Given the description of an element on the screen output the (x, y) to click on. 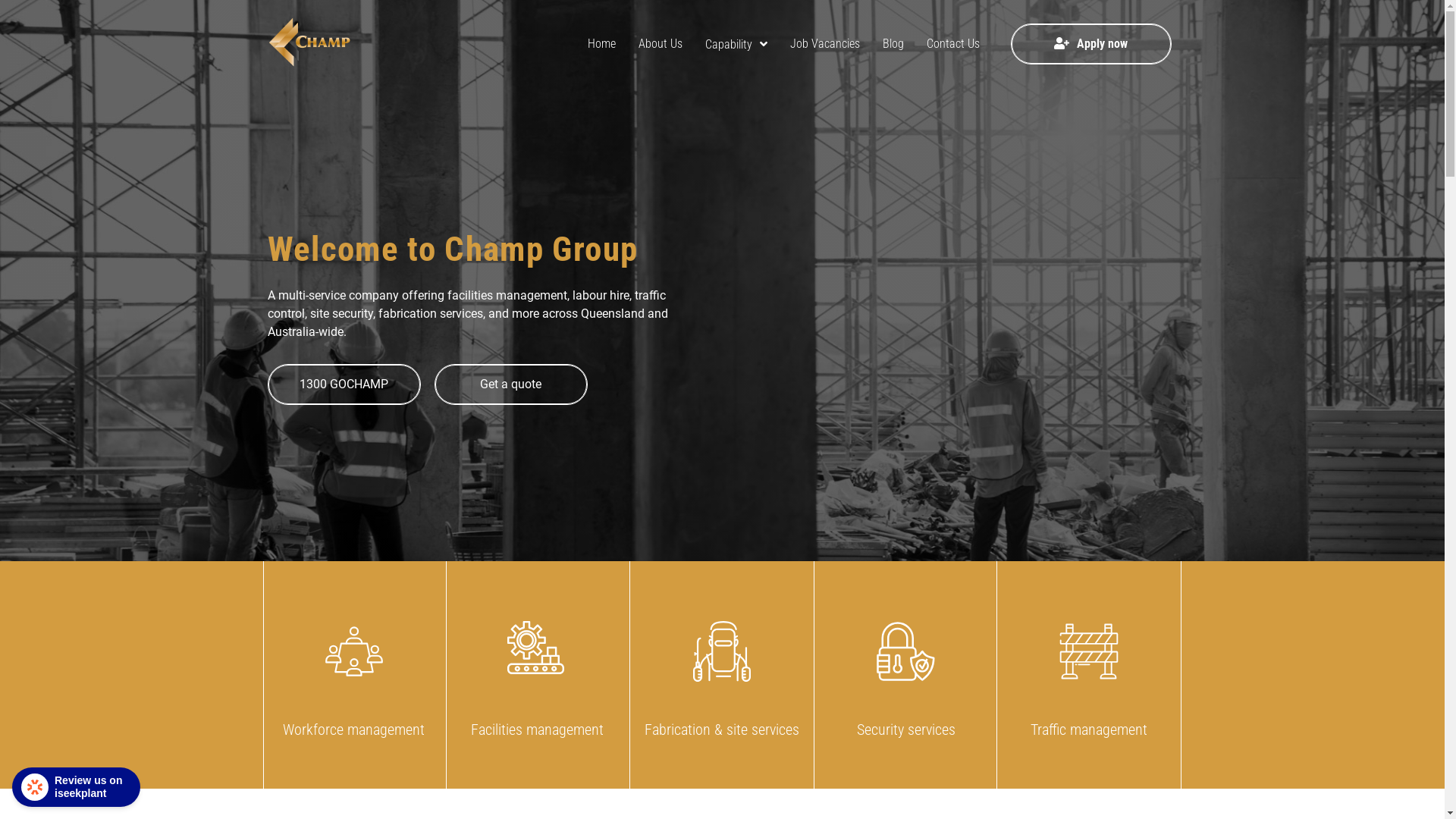
Capability Element type: text (735, 44)
Get a quote Element type: text (510, 384)
Review us on
iseekplant Element type: text (76, 786)
Security services Element type: text (905, 674)
Apply now Element type: text (1090, 43)
Job Vacancies Element type: text (824, 44)
1300 GOCHAMP Element type: text (344, 384)
Fabrication & site services Element type: text (721, 674)
Facilities management Element type: text (536, 674)
Contact Us Element type: text (952, 44)
Blog Element type: text (892, 44)
Traffic management Element type: text (1088, 674)
Home Element type: text (601, 44)
About Us Element type: text (659, 44)
Workforce management Element type: text (353, 674)
